Given the description of an element on the screen output the (x, y) to click on. 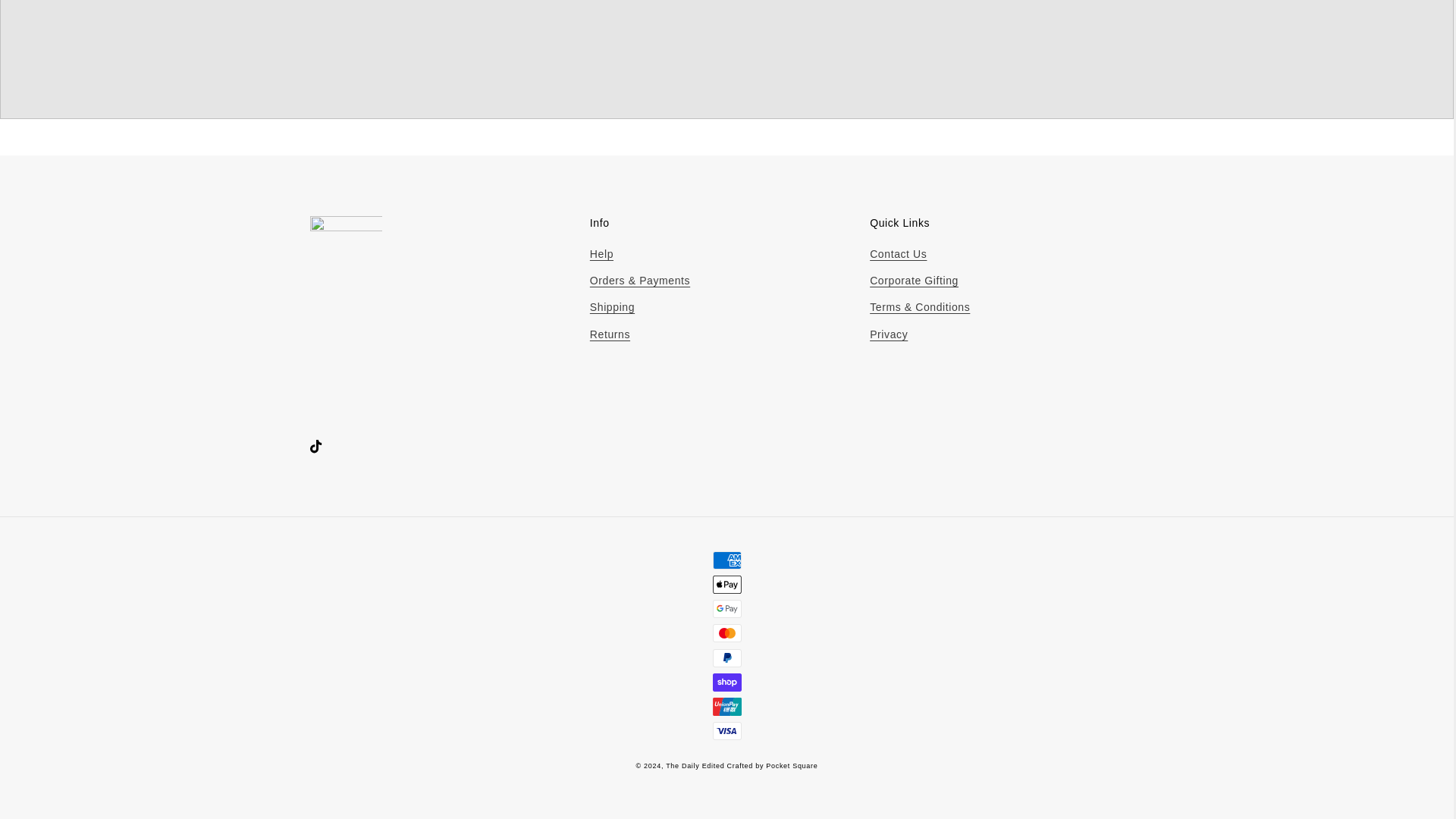
Shop Pay (727, 682)
Visa (727, 730)
American Express (727, 560)
Apple Pay (727, 584)
Union Pay (727, 706)
PayPal (727, 658)
Mastercard (727, 633)
Google Pay (727, 608)
